Given the description of an element on the screen output the (x, y) to click on. 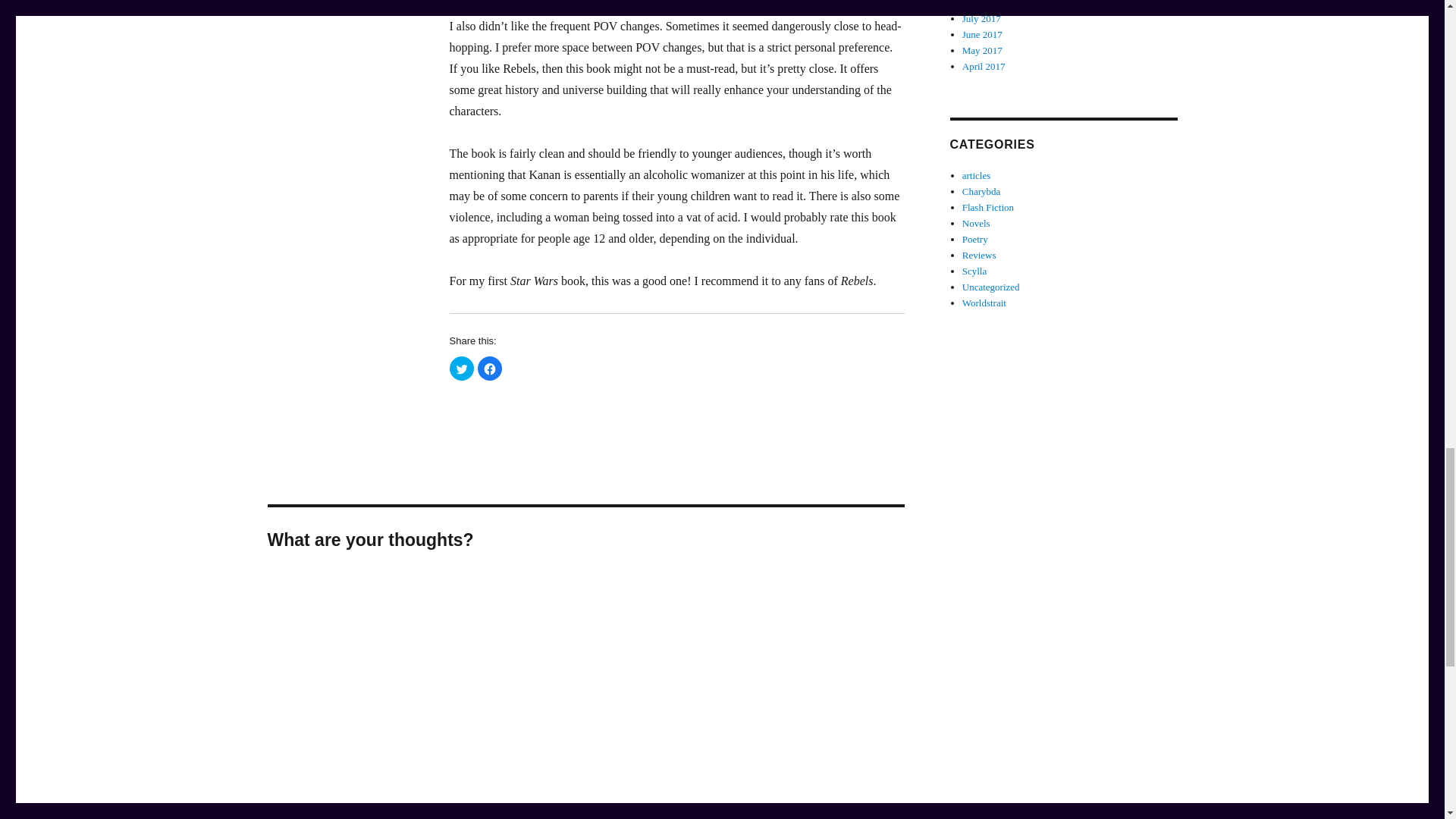
Click to share on Twitter (460, 368)
Click to share on Facebook (489, 368)
